Given the description of an element on the screen output the (x, y) to click on. 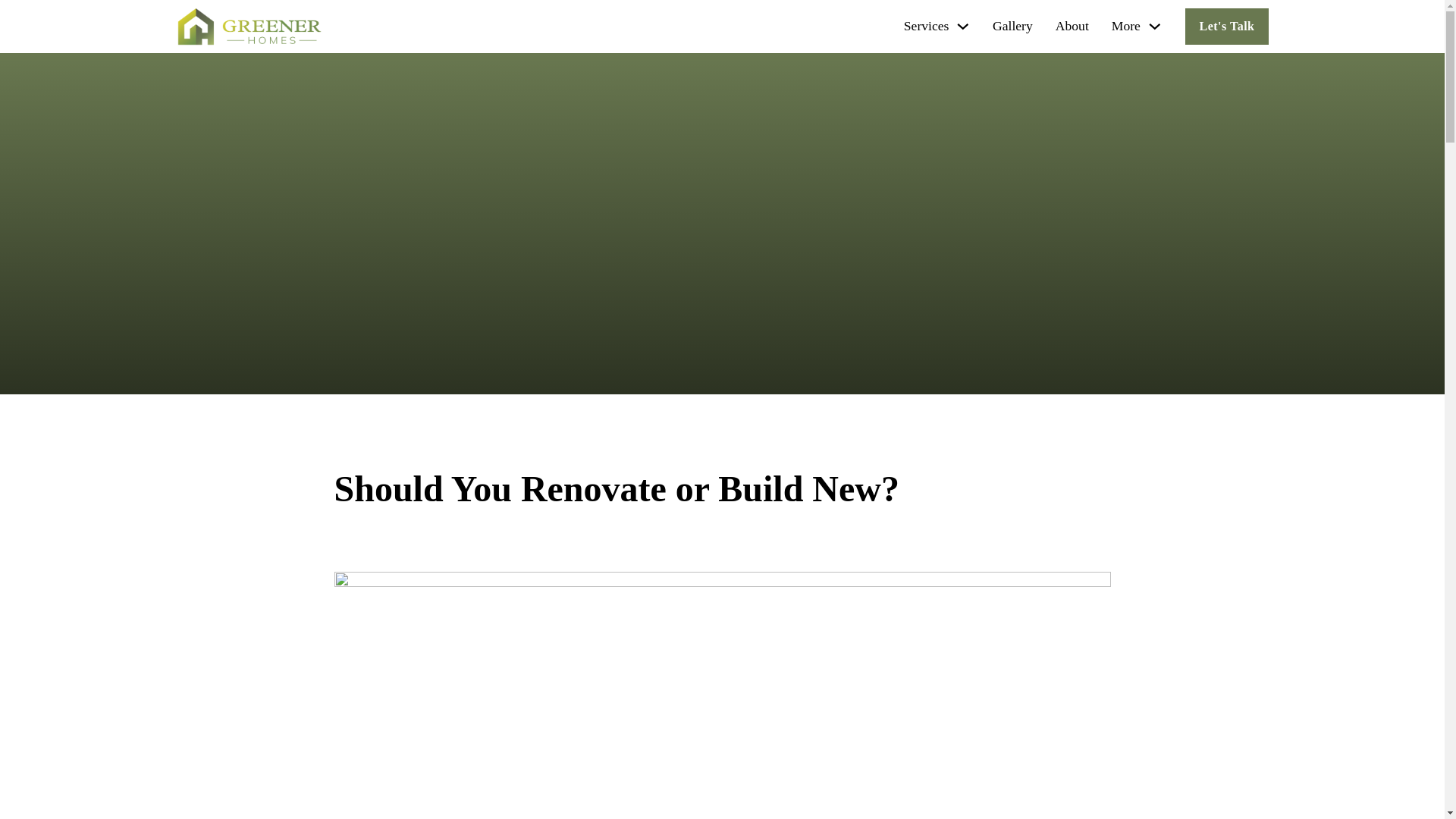
Let's Talk (1226, 26)
Gallery (1012, 26)
About (1072, 26)
More (1126, 26)
Services (926, 26)
